Given the description of an element on the screen output the (x, y) to click on. 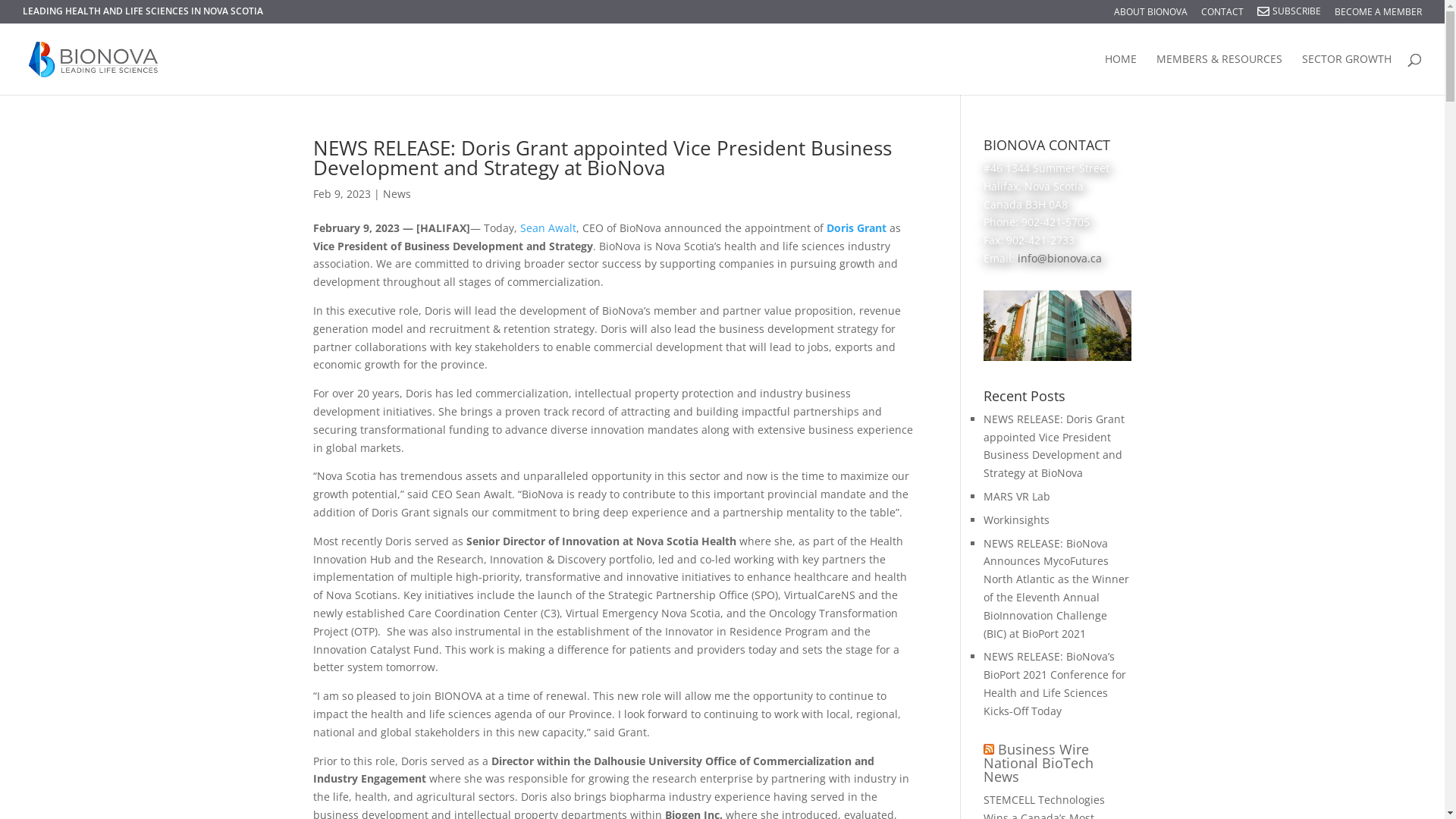
info@bionova.ca Element type: text (1059, 258)
MEMBERS & RESOURCES Element type: text (1219, 73)
Doris Grant Element type: text (856, 227)
SECTOR GROWTH Element type: text (1346, 73)
Business Wire National BioTech News Element type: text (1038, 762)
Workinsights Element type: text (1016, 519)
SUBSCRIBE Element type: text (1295, 14)
CONTACT Element type: text (1222, 15)
ABOUT BIONOVA Element type: text (1150, 15)
HOME Element type: text (1120, 73)
News Element type: text (396, 193)
BECOME A MEMBER Element type: text (1377, 15)
MARS VR Lab Element type: text (1016, 496)
Sean Awalt Element type: text (548, 227)
